Given the description of an element on the screen output the (x, y) to click on. 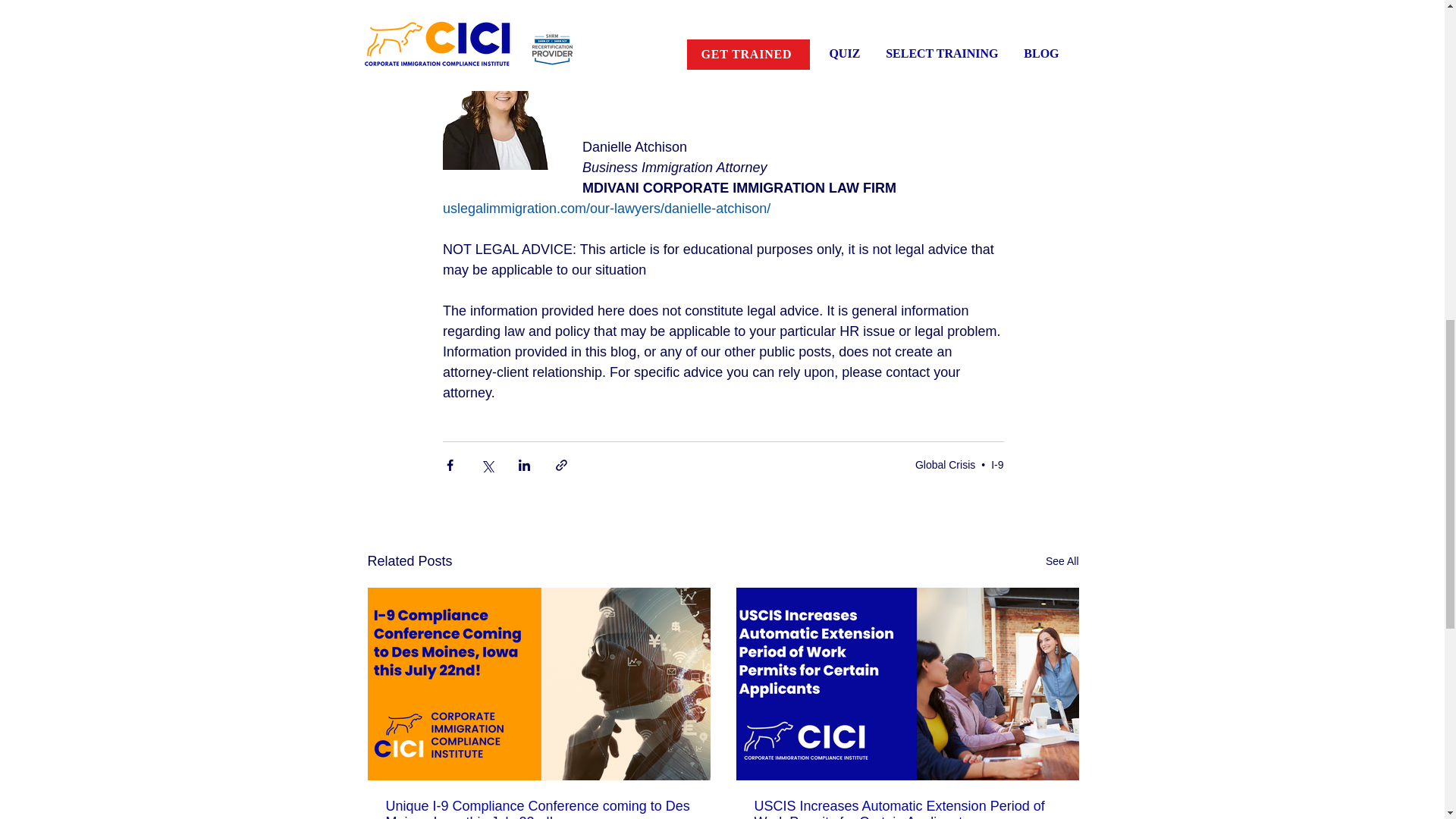
See All (1061, 561)
Global Crisis (945, 463)
I-9 (997, 463)
